Given the description of an element on the screen output the (x, y) to click on. 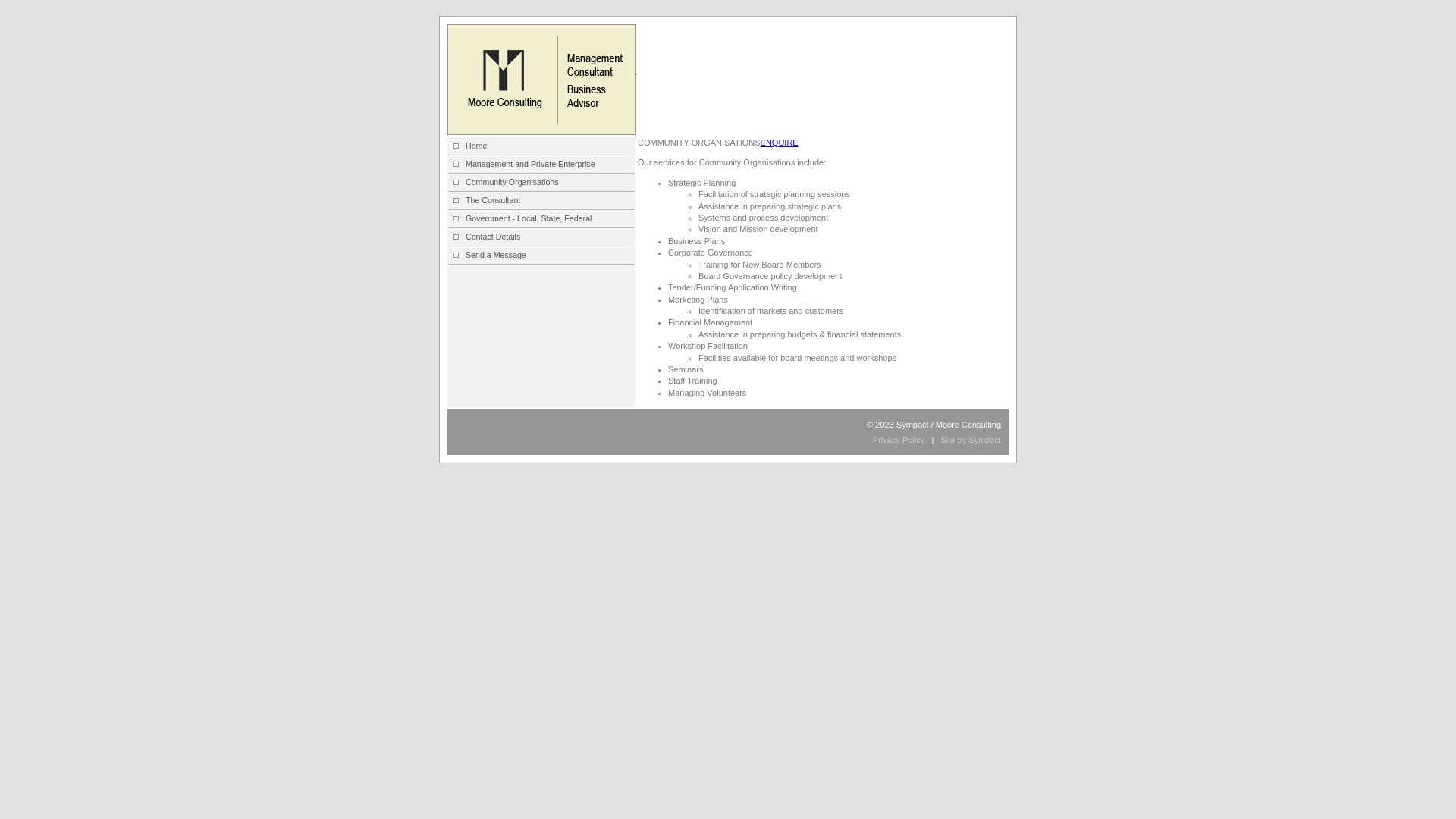
ENQUIRE Element type: text (779, 142)
Privacy Policy Element type: text (898, 439)
Site by Sympact Element type: text (971, 439)
